Given the description of an element on the screen output the (x, y) to click on. 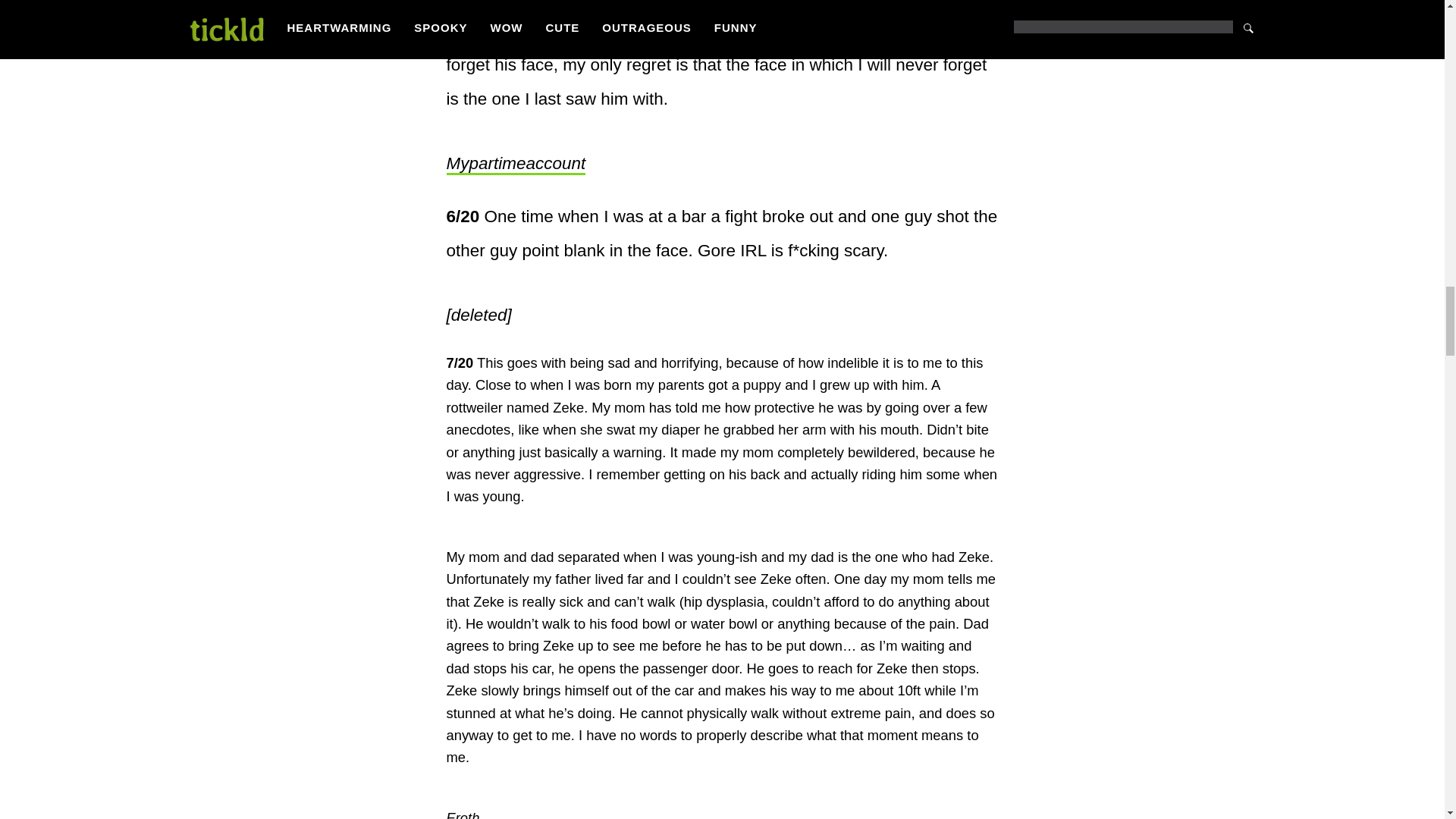
Eroth (462, 814)
Mypartimeaccount (515, 164)
